Given the description of an element on the screen output the (x, y) to click on. 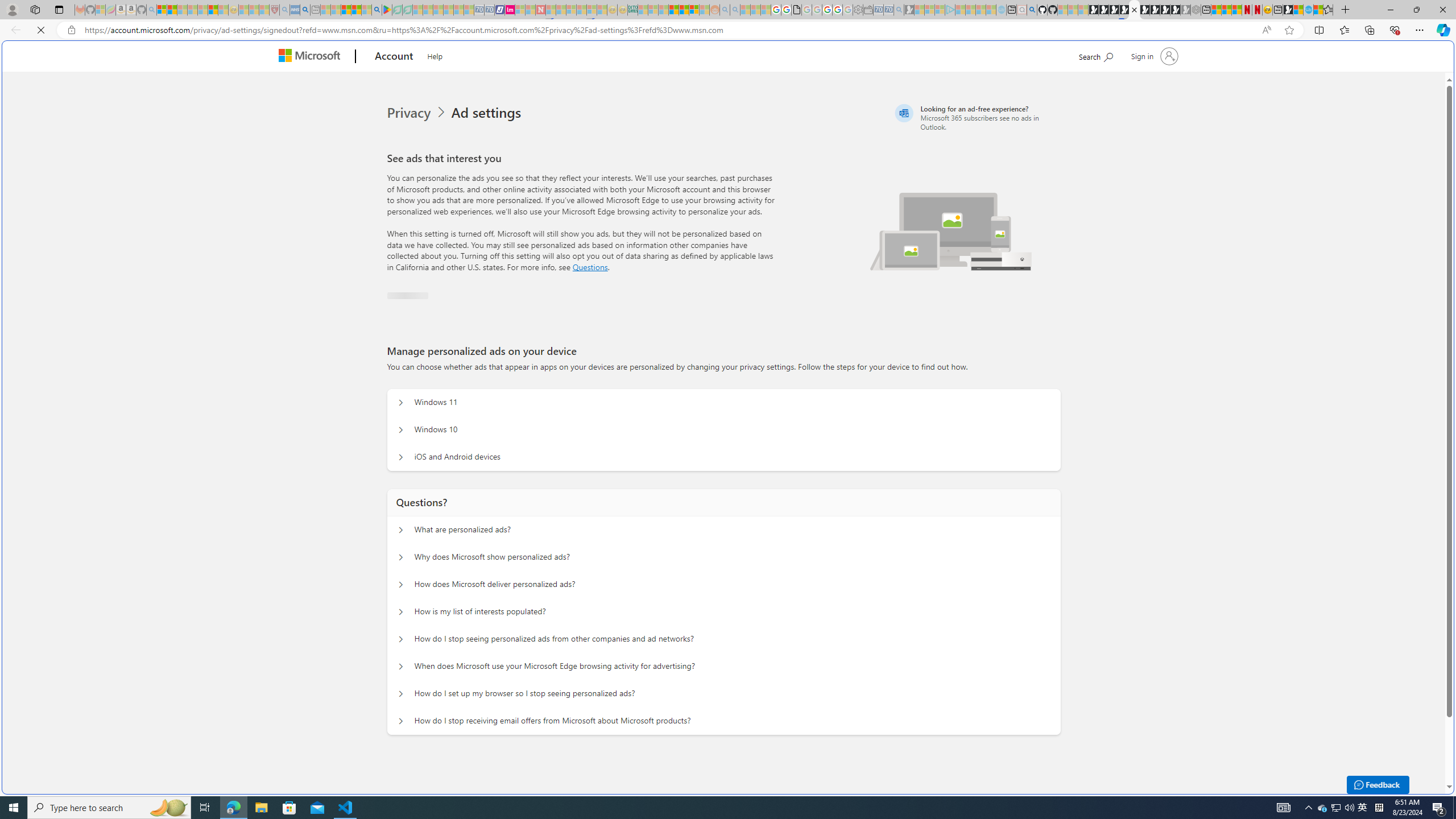
Close split screen (1208, 57)
Sign in to Microsoft (422, 311)
New Report Confirms 2023 Was Record Hot | Watch - Sleeping (202, 9)
Search or enter web address (922, 108)
utah sues federal government - Search (922, 389)
